Given the description of an element on the screen output the (x, y) to click on. 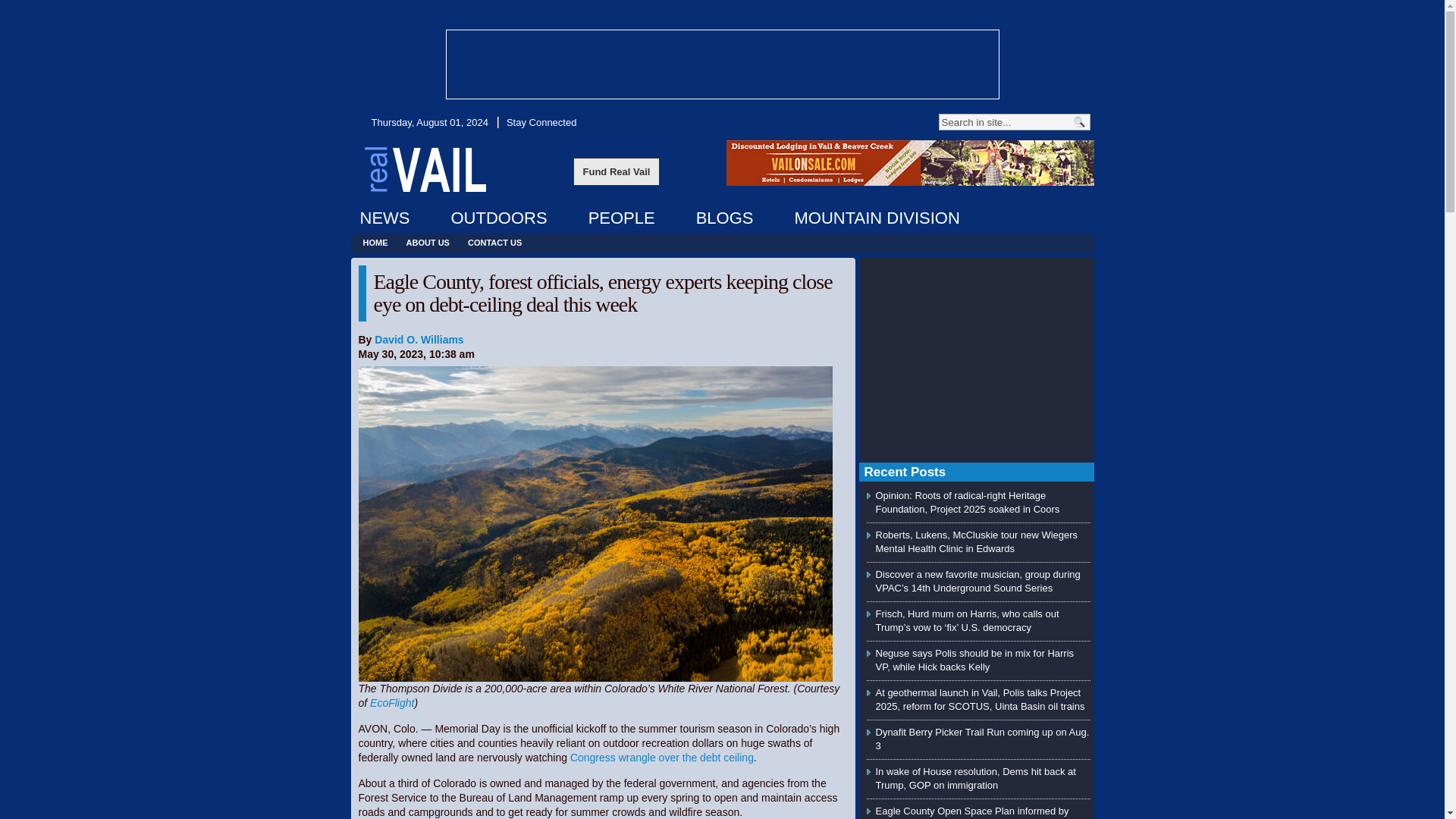
HOME (374, 242)
Vail Valley News, Guides, and Information (424, 168)
Congress wrangle over the debt ceiling (662, 757)
MOUNTAIN DIVISION (876, 217)
OUTDOORS (498, 217)
CONTACT US (494, 242)
EcoFlight (391, 702)
Posts by David O. Williams (418, 339)
PEOPLE (621, 217)
Stay Connected (540, 122)
David O. Williams (418, 339)
Search in site... (1004, 121)
Real Vail (424, 168)
ABOUT US (427, 242)
BLOGS (724, 217)
